Given the description of an element on the screen output the (x, y) to click on. 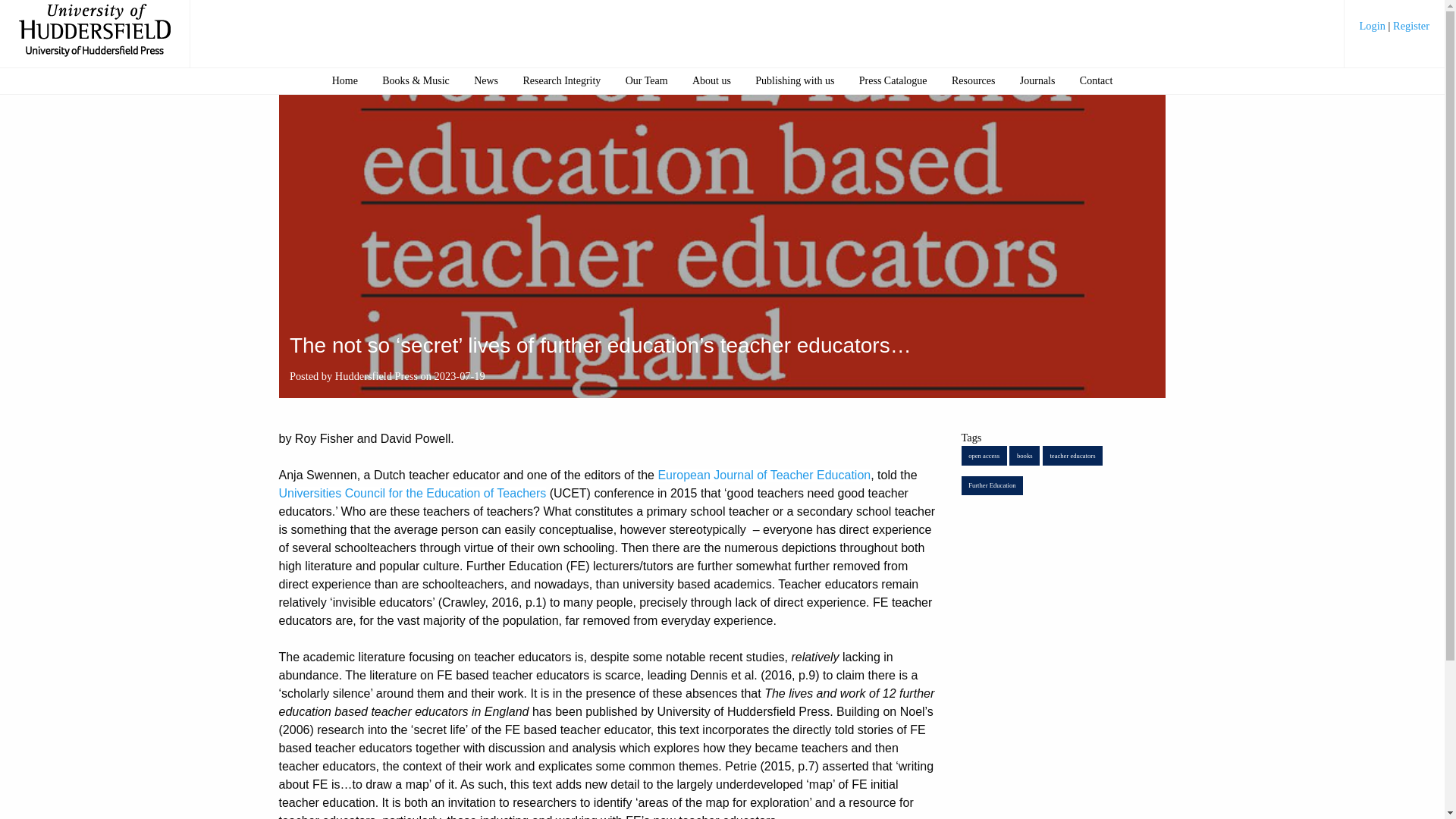
open access (983, 455)
teacher educators (1072, 455)
Our Team (646, 80)
Login (1374, 25)
News (486, 80)
Journals (1037, 80)
Further Education (991, 485)
Universities Council for the Education of Teachers (413, 492)
Press Catalogue (892, 80)
Research Integrity (561, 80)
